Given the description of an element on the screen output the (x, y) to click on. 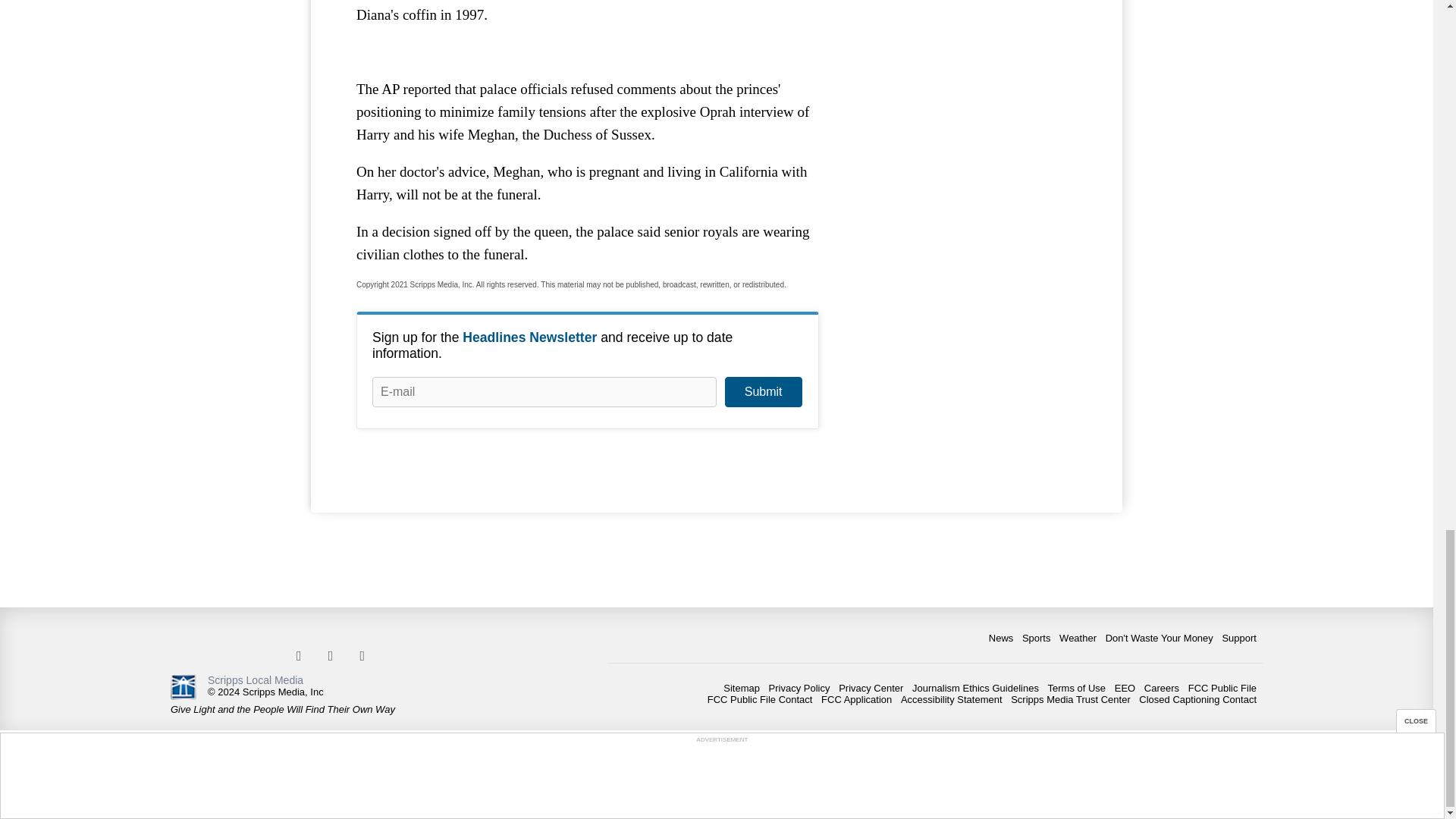
Submit (763, 391)
